Given the description of an element on the screen output the (x, y) to click on. 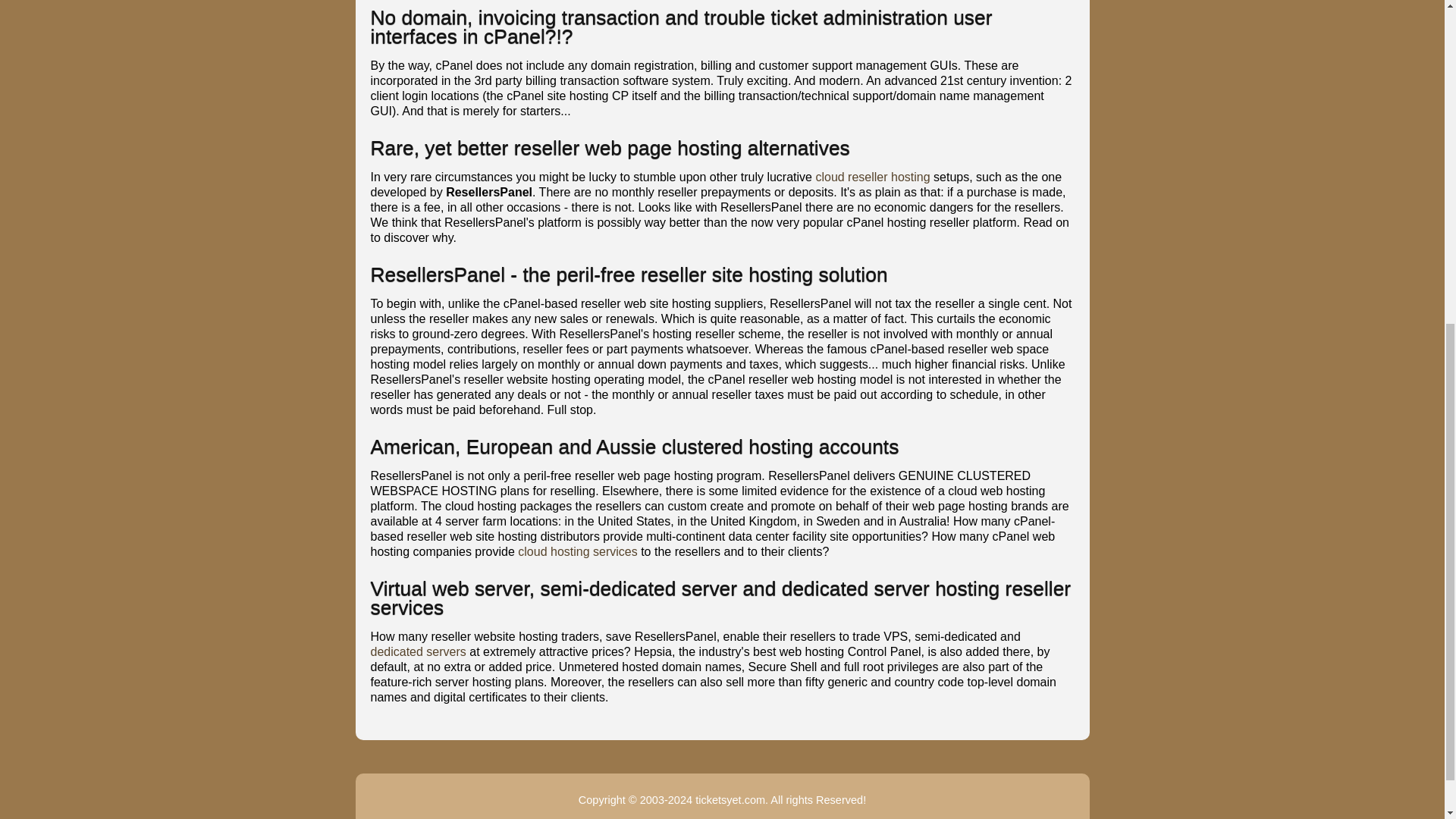
dedicated servers (417, 651)
cloud reseller hosting (872, 176)
ticketsyet.com (730, 799)
cloud hosting services (577, 551)
